Given the description of an element on the screen output the (x, y) to click on. 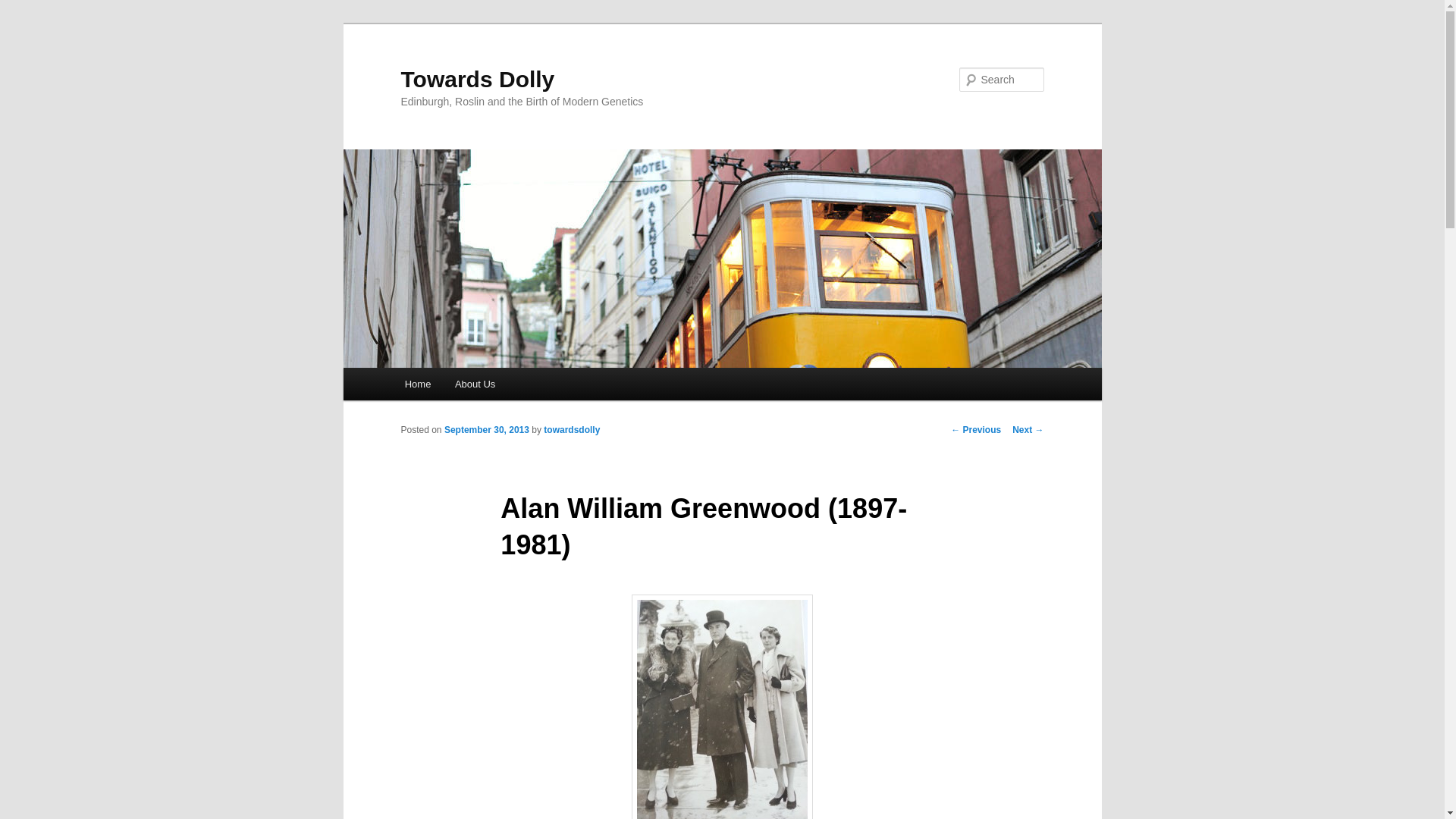
September 30, 2013 (486, 429)
Search (24, 8)
8:19 am (486, 429)
towardsdolly (571, 429)
Towards Dolly (477, 78)
Home (417, 383)
About Us (474, 383)
View all posts by towardsdolly (571, 429)
